Given the description of an element on the screen output the (x, y) to click on. 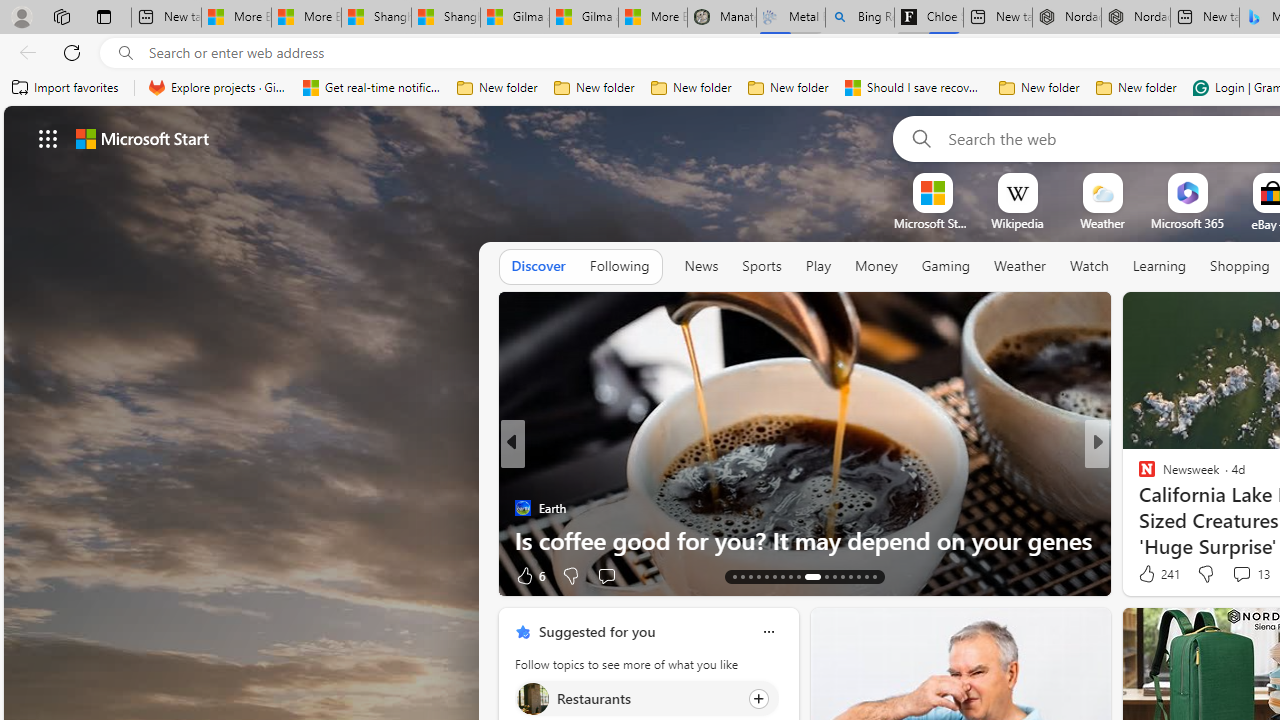
Weather (1019, 267)
Ad Choice (1087, 575)
Search (917, 138)
View comments 13 Comment (1241, 573)
View comments 405 Comment (11, 575)
Dislike (1204, 574)
View comments 22 Comment (1244, 574)
AutomationID: tab-17 (765, 576)
Watch (1089, 267)
View comments 102 Comment (11, 575)
Back (24, 52)
248 Like (1151, 574)
AutomationID: tab-15 (750, 576)
Watch (1089, 265)
